Given the description of an element on the screen output the (x, y) to click on. 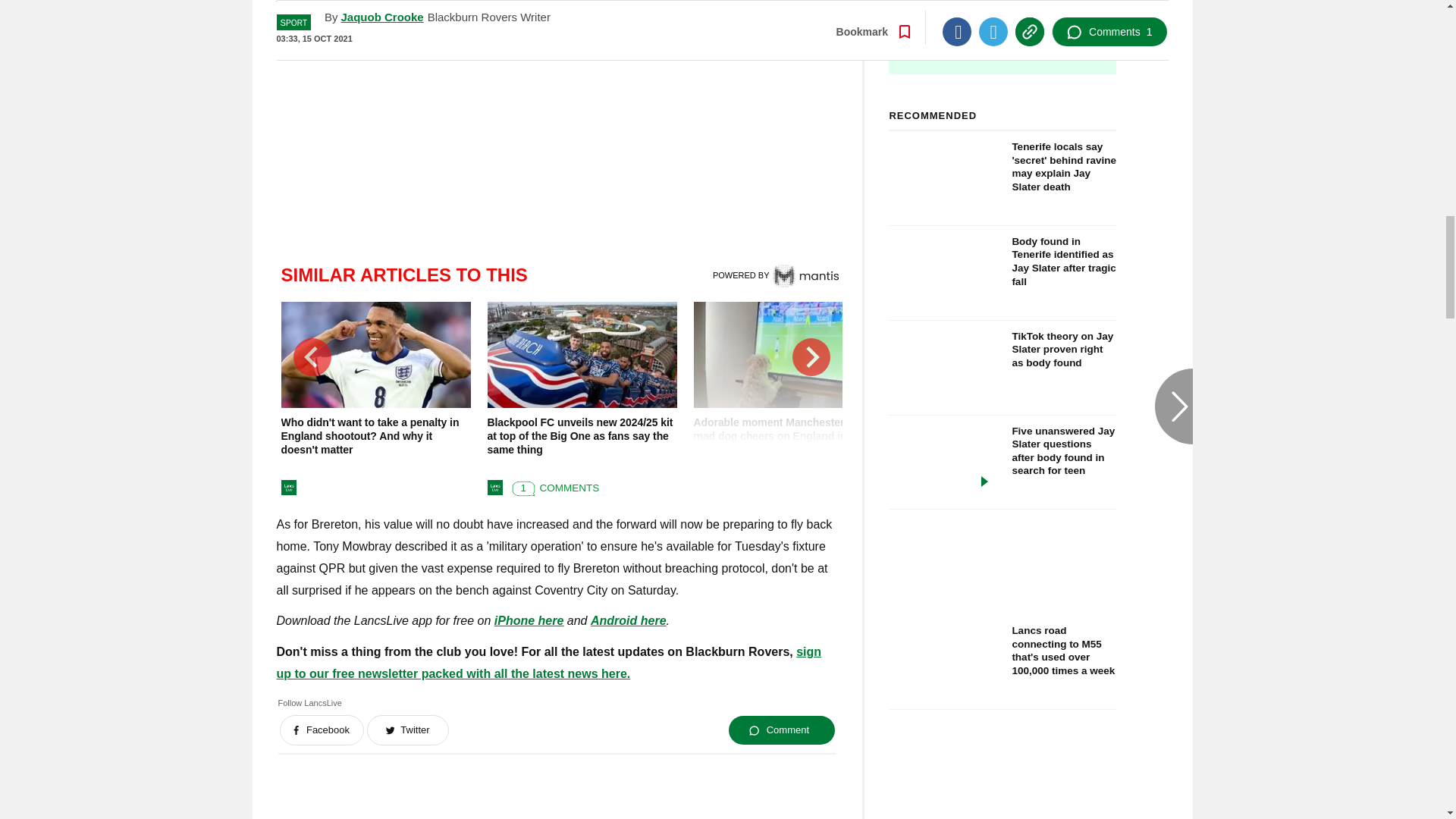
Comments (552, 484)
